Given the description of an element on the screen output the (x, y) to click on. 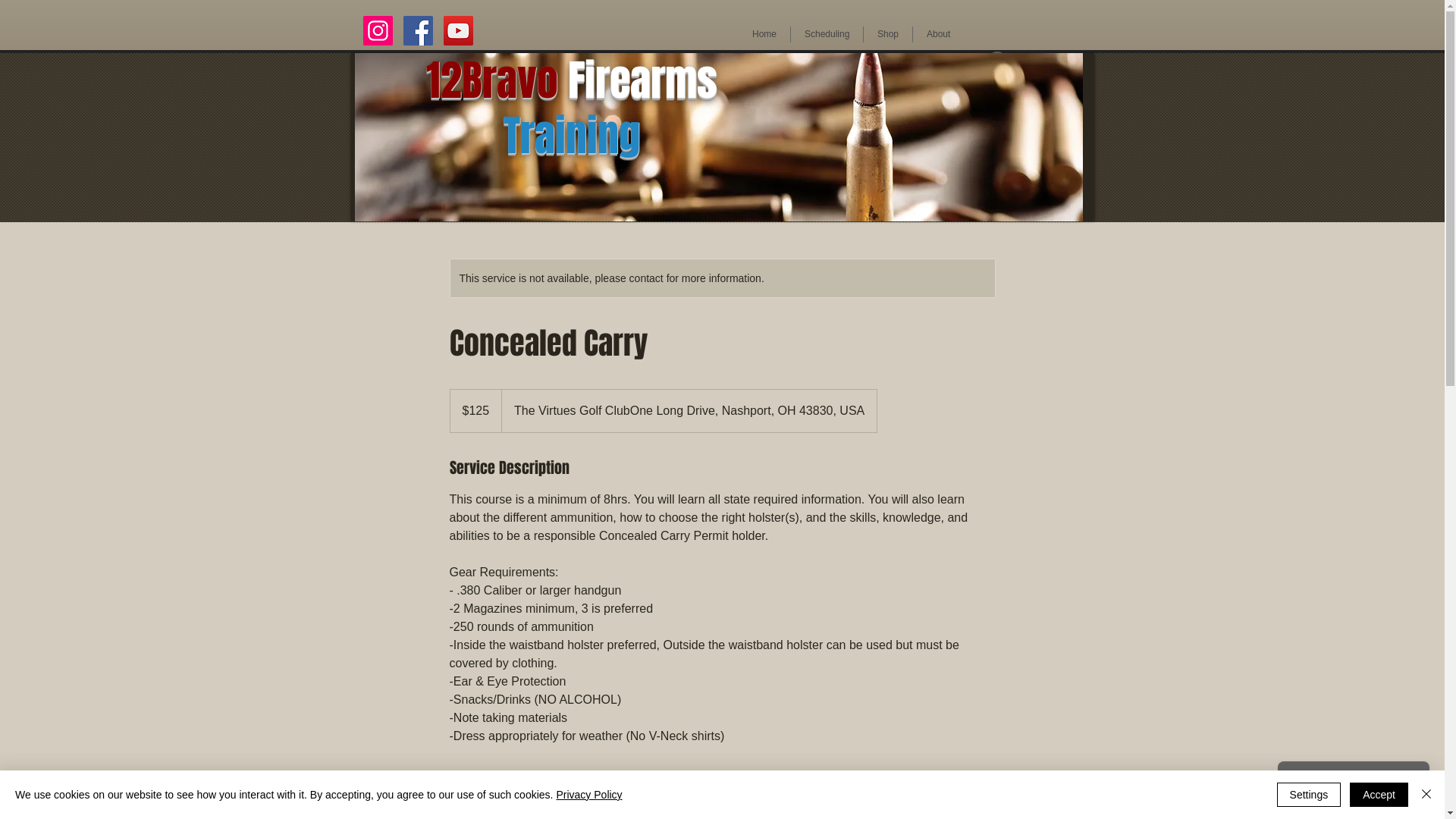
Privacy Policy Element type: text (588, 794)
About Element type: text (938, 34)
Settings Element type: text (1309, 794)
Shop Element type: text (887, 34)
Rifle Bullets Element type: hover (718, 137)
Accept Element type: text (1378, 794)
Log In Element type: text (1015, 61)
Scheduling Element type: text (826, 34)
Home Element type: text (764, 34)
